Given the description of an element on the screen output the (x, y) to click on. 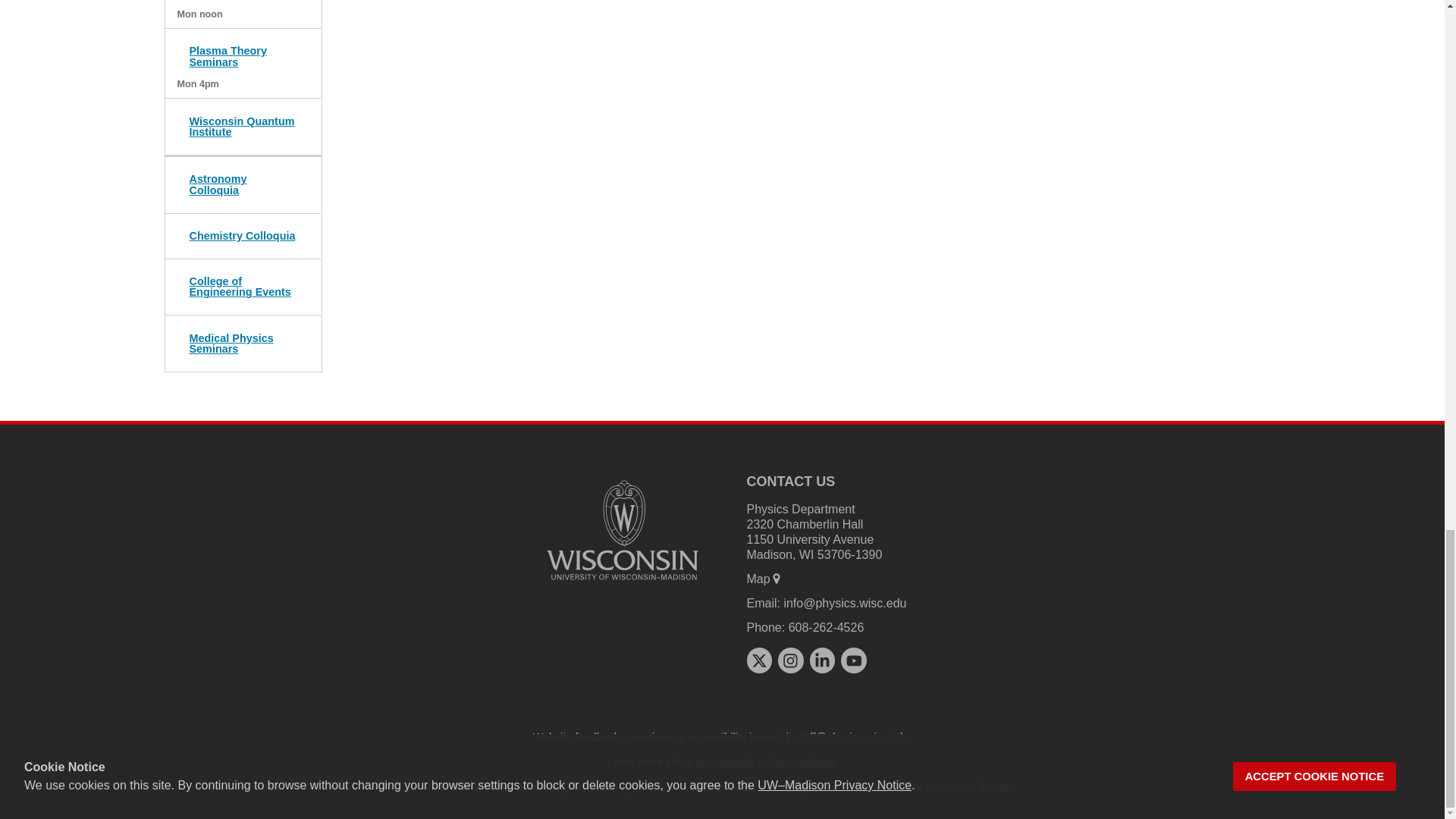
map marker (776, 578)
instagram (790, 660)
linkedin (821, 660)
University logo that links to main university website (621, 530)
youtube (853, 660)
x twitter (759, 660)
